Given the description of an element on the screen output the (x, y) to click on. 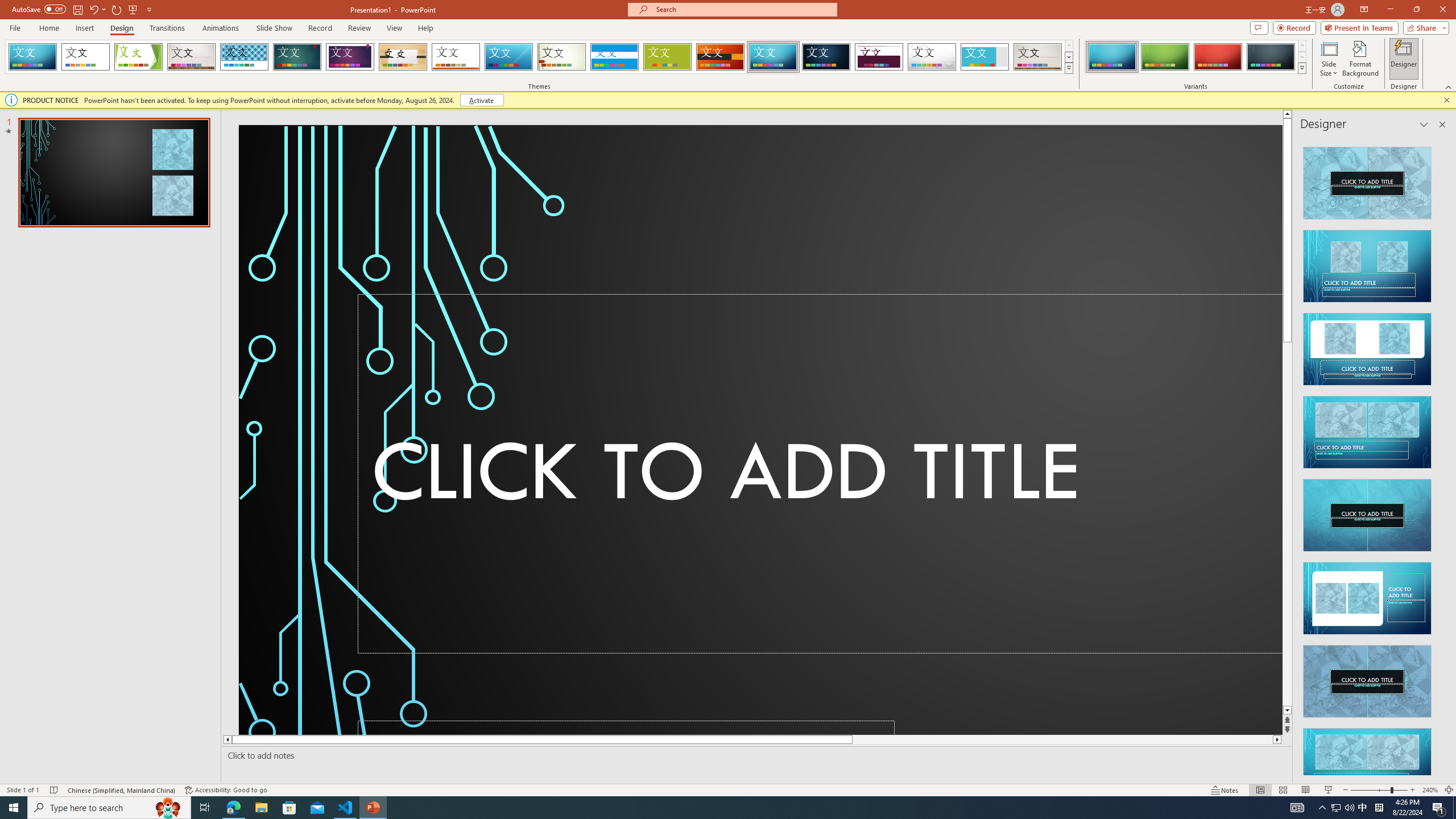
Notes  (1225, 790)
